Given the description of an element on the screen output the (x, y) to click on. 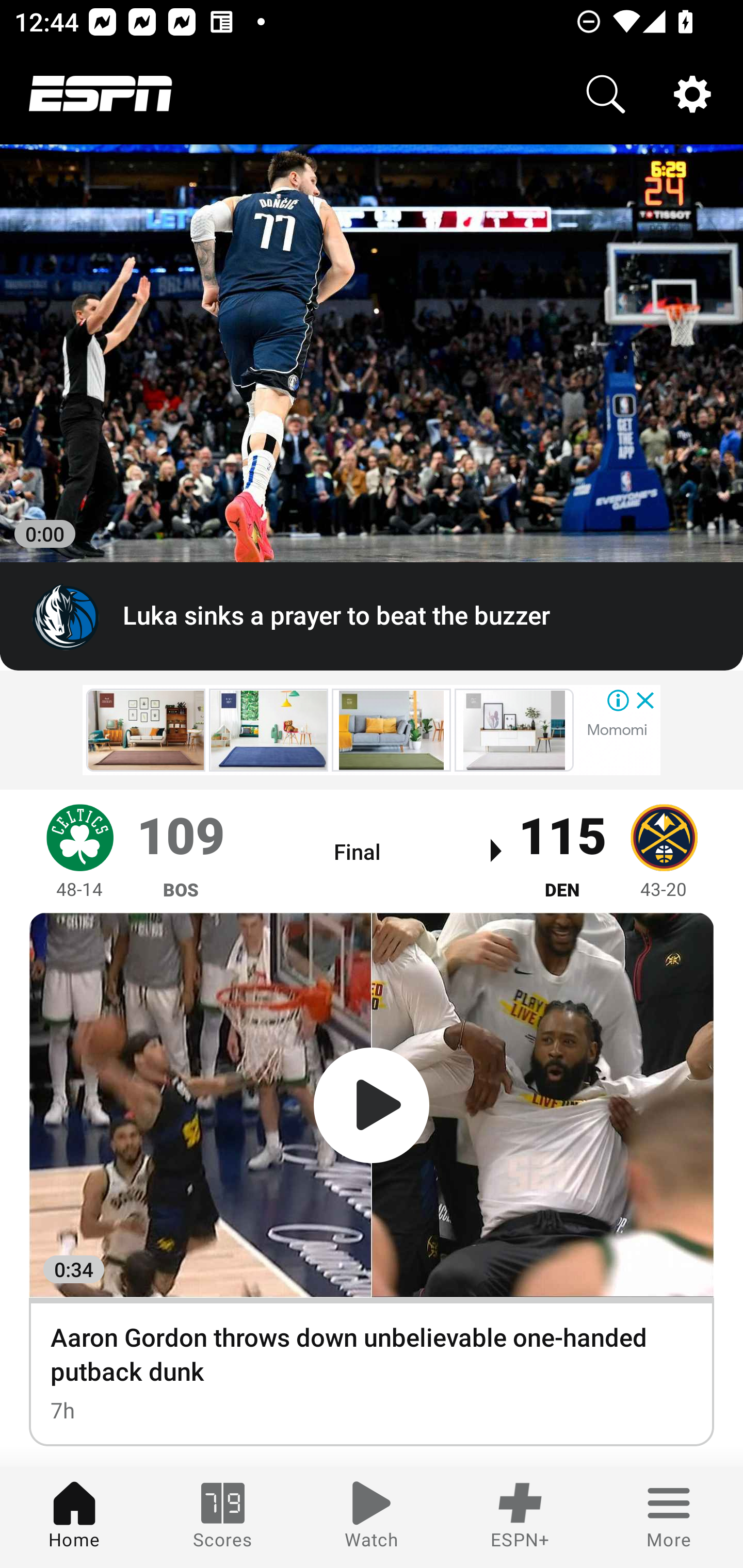
Search (605, 93)
Settings (692, 93)
Luka sinks a prayer to beat the buzzer (371, 616)
Momomi (616, 729)
Scores (222, 1517)
Watch (371, 1517)
ESPN+ (519, 1517)
More (668, 1517)
